Given the description of an element on the screen output the (x, y) to click on. 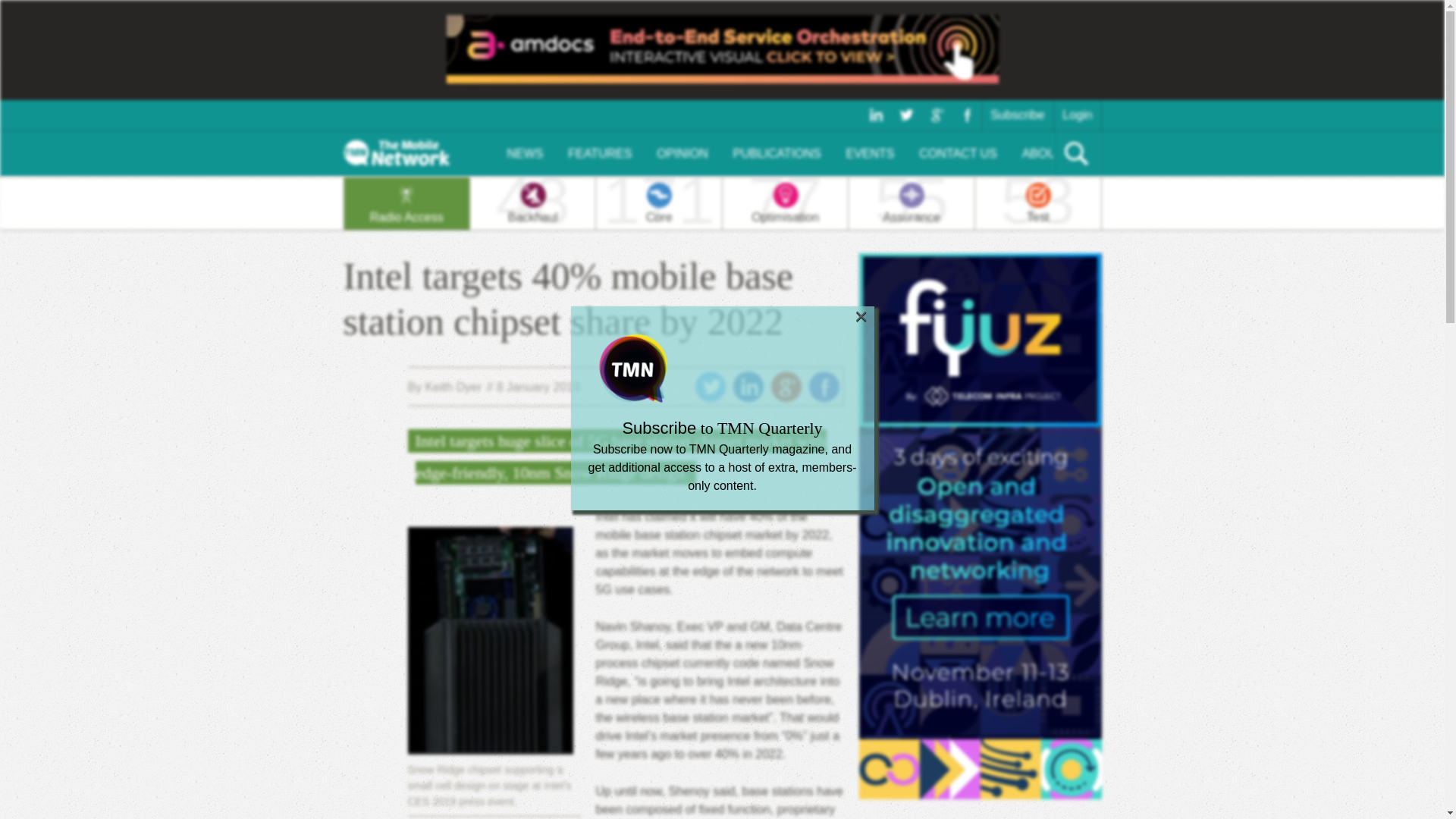
OPINION (682, 153)
ABOUT US (1053, 153)
EVENTS (784, 203)
FEATURES (869, 153)
Facebook (599, 153)
Radio Access (823, 386)
By Keith Dyer (405, 203)
LinkedIn (444, 386)
